Given the description of an element on the screen output the (x, y) to click on. 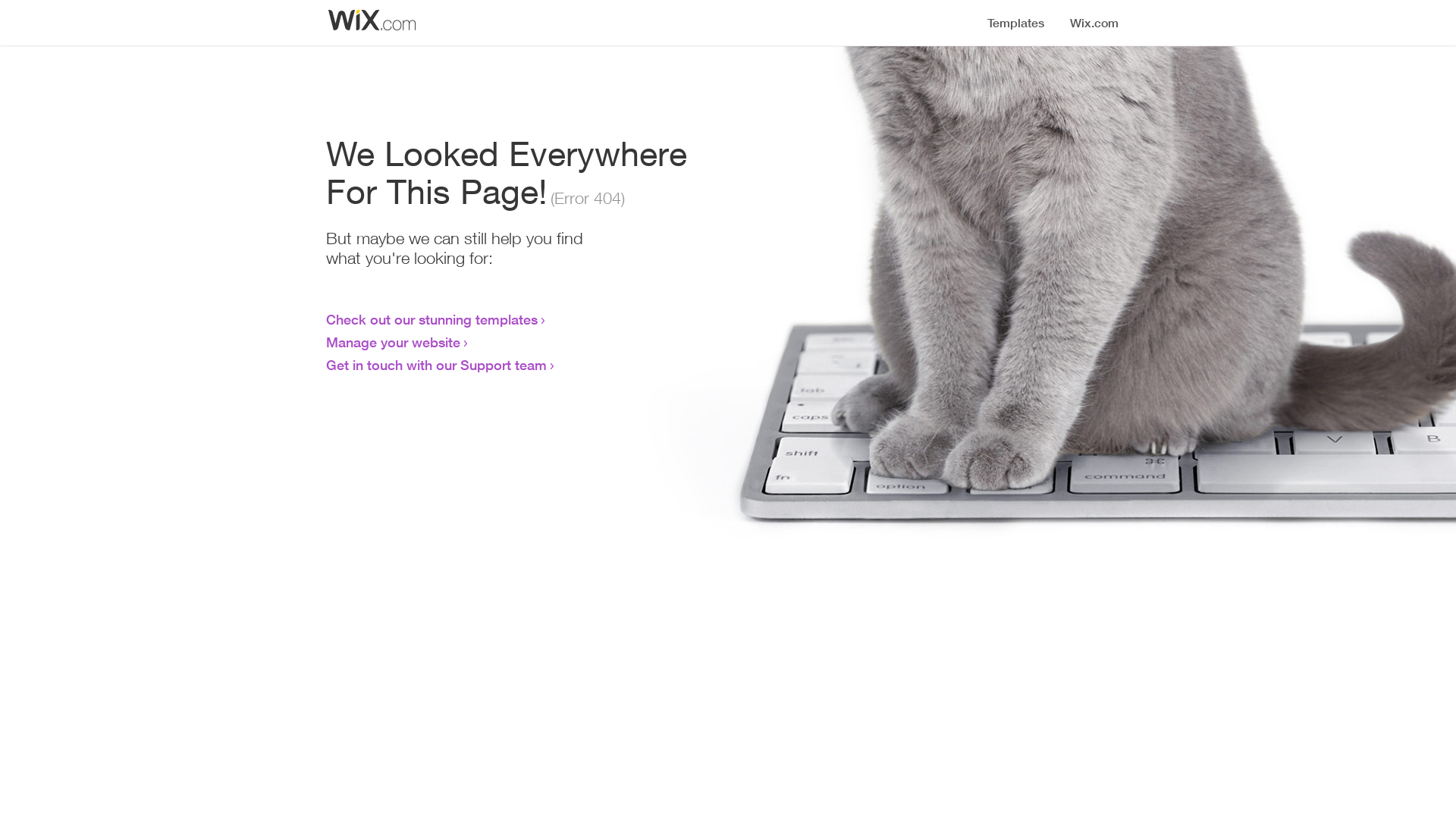
Check out our stunning templates Element type: text (431, 318)
Manage your website Element type: text (393, 341)
Get in touch with our Support team Element type: text (436, 364)
